Given the description of an element on the screen output the (x, y) to click on. 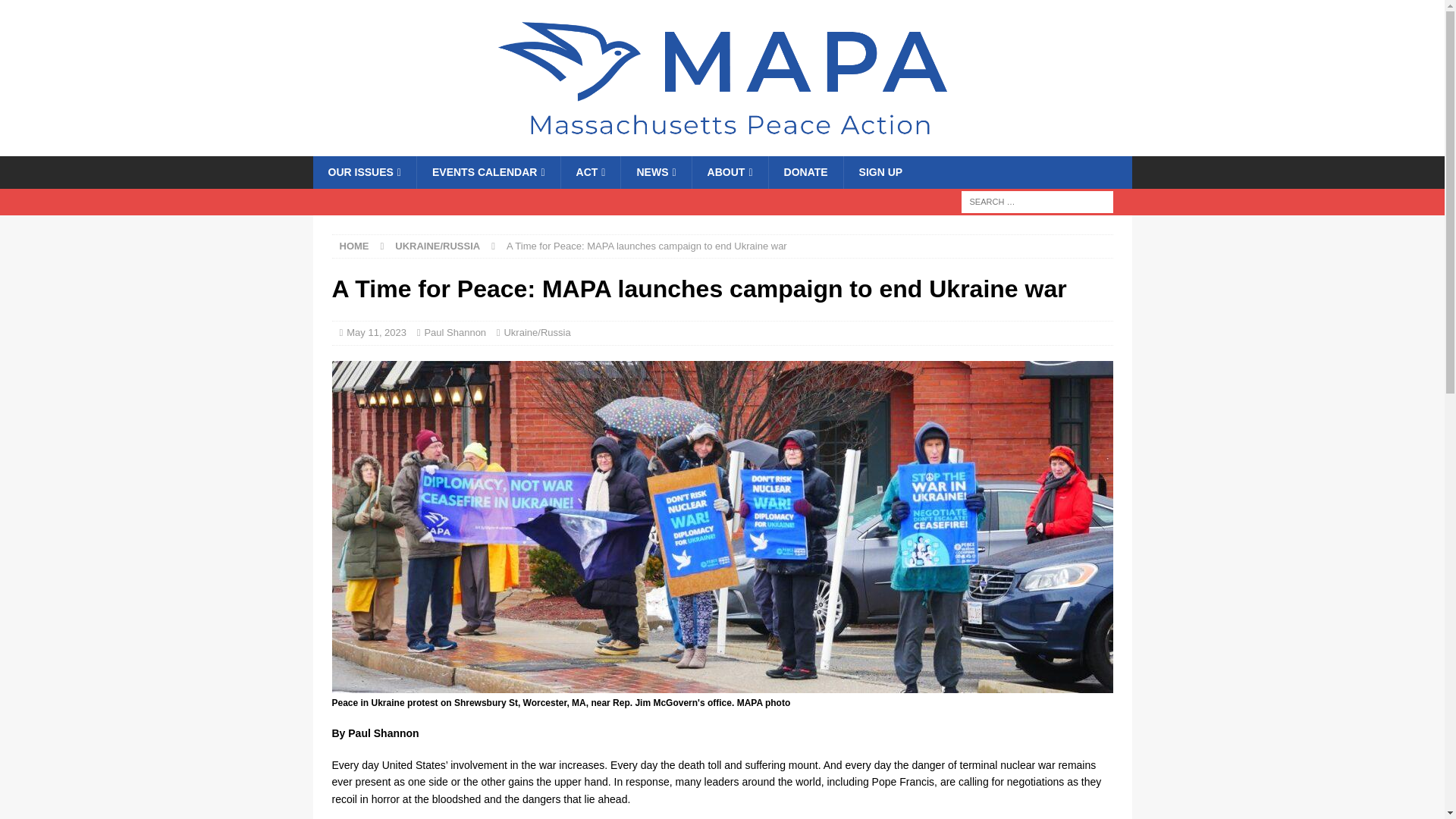
Massachusetts Peace Action (722, 147)
ABOUT (729, 172)
May 11, 2023 (376, 332)
Search (56, 11)
Paul Shannon (454, 332)
OUR ISSUES (363, 172)
SIGN UP (880, 172)
DONATE (805, 172)
HOME (354, 245)
NEWS (655, 172)
